Given the description of an element on the screen output the (x, y) to click on. 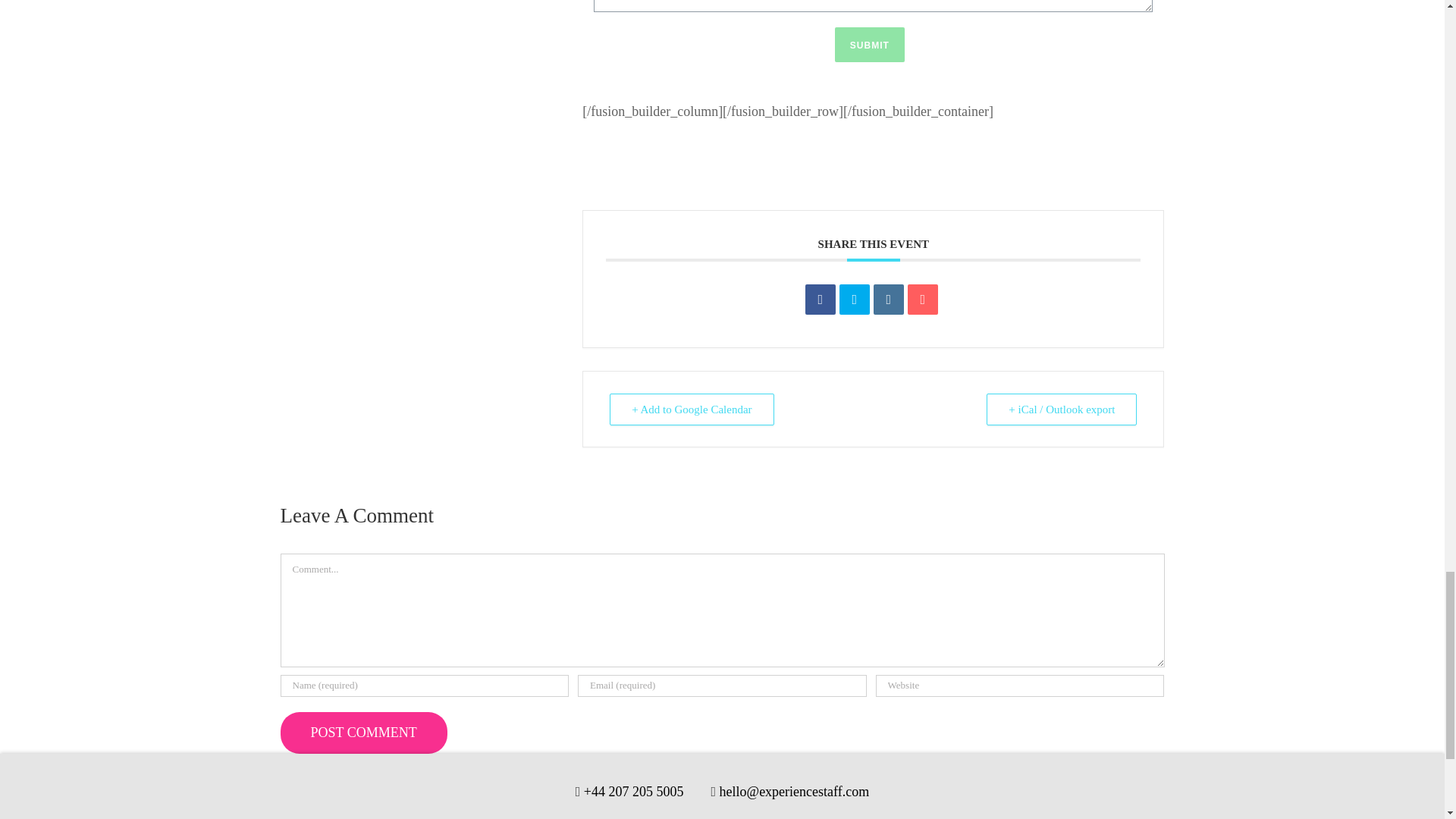
Tweet (854, 299)
Linkedin (888, 299)
Email (922, 299)
Post Comment (363, 732)
Share on Facebook (820, 299)
